Given the description of an element on the screen output the (x, y) to click on. 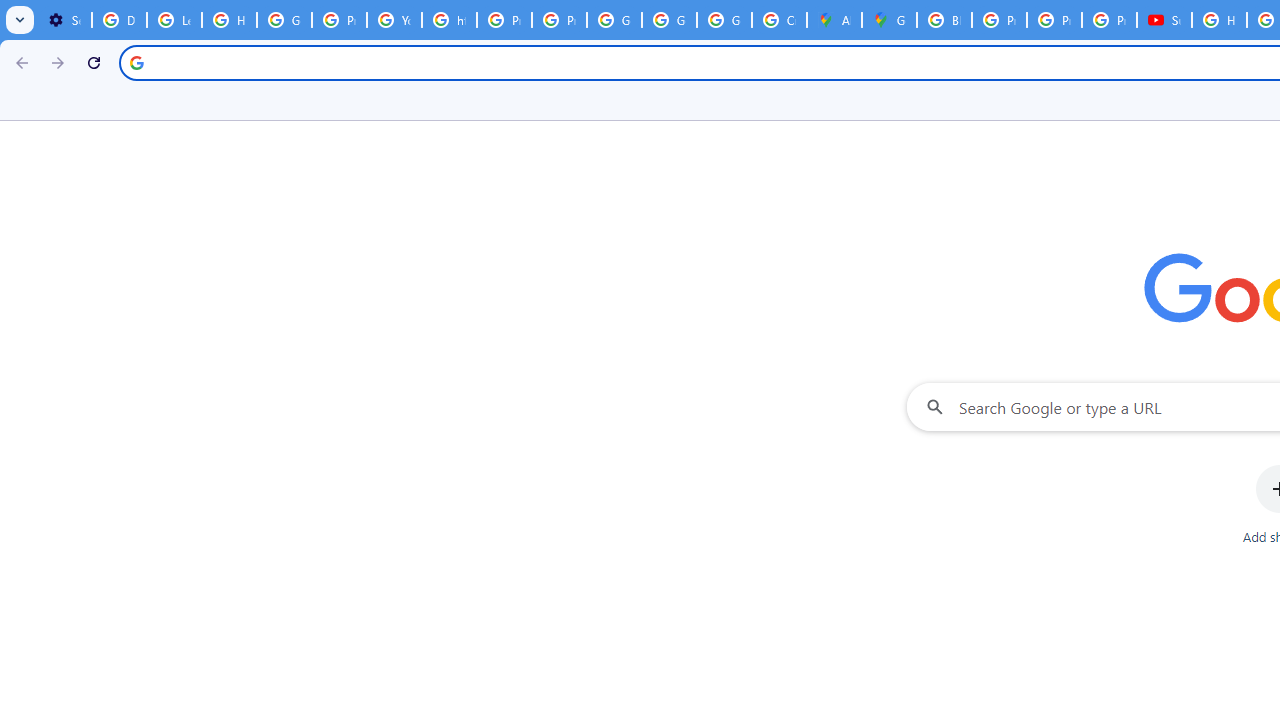
Privacy Help Center - Policies Help (339, 20)
YouTube (394, 20)
Subscriptions - YouTube (1163, 20)
Privacy Help Center - Policies Help (998, 20)
Delete photos & videos - Computer - Google Photos Help (119, 20)
https://scholar.google.com/ (449, 20)
Google Maps (888, 20)
